Given the description of an element on the screen output the (x, y) to click on. 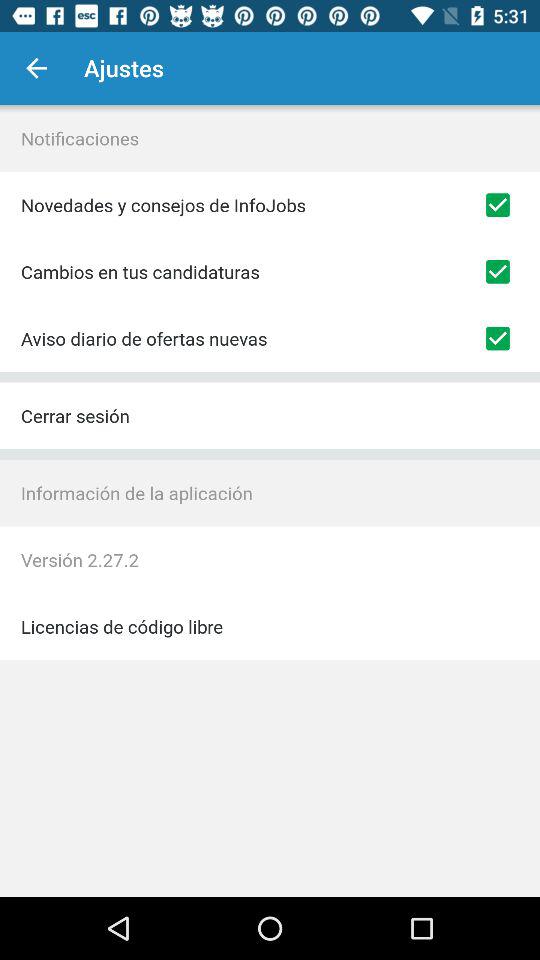
toggle novedades y consejos de infojobs (498, 205)
